Given the description of an element on the screen output the (x, y) to click on. 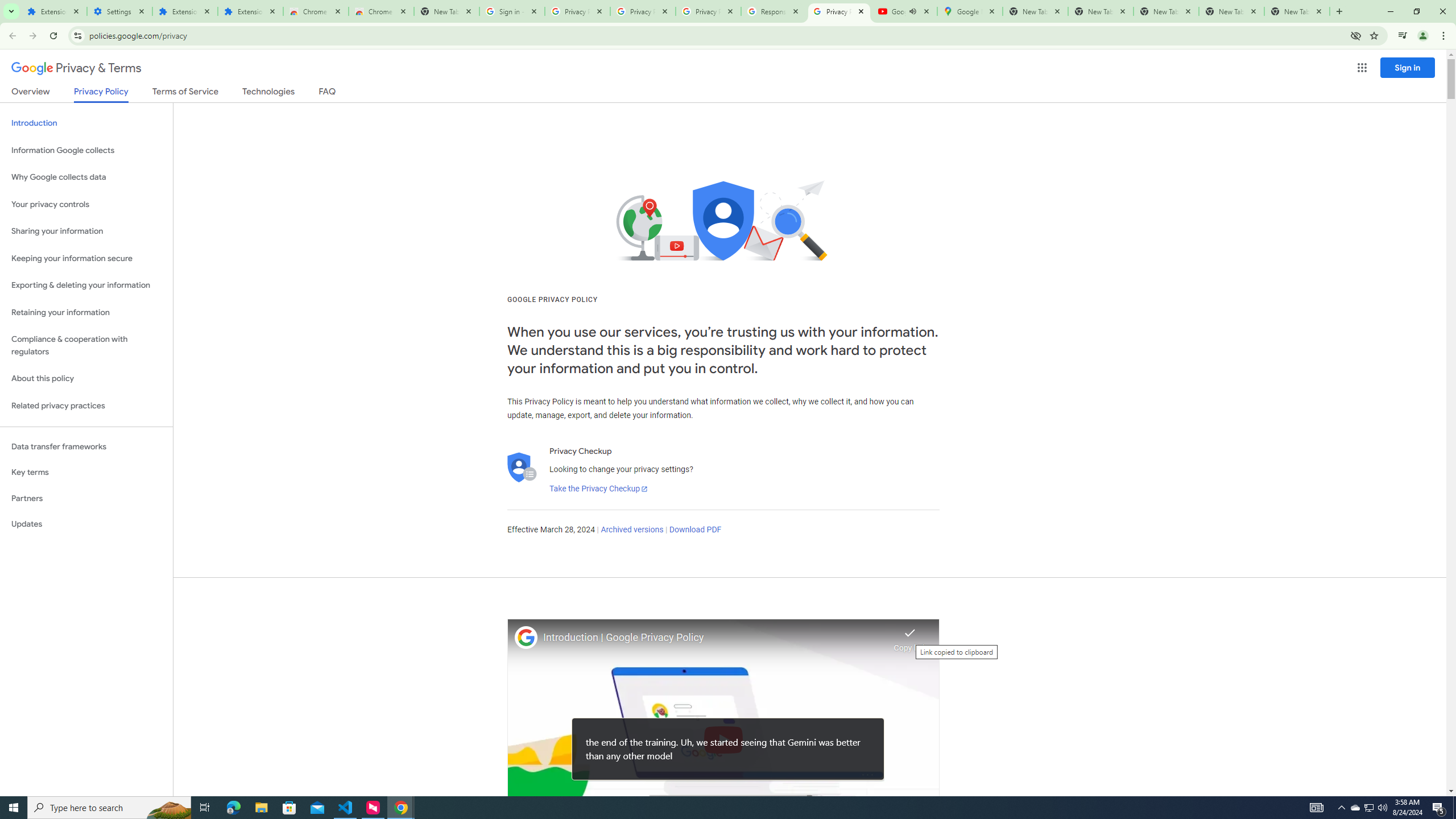
Link copied to clipboard (909, 636)
Information Google collects (86, 150)
Settings (119, 11)
Sign in - Google Accounts (512, 11)
Sharing your information (86, 230)
Extensions (53, 11)
Chrome Web Store - Themes (381, 11)
Introduction (86, 122)
Technologies (268, 93)
